Given the description of an element on the screen output the (x, y) to click on. 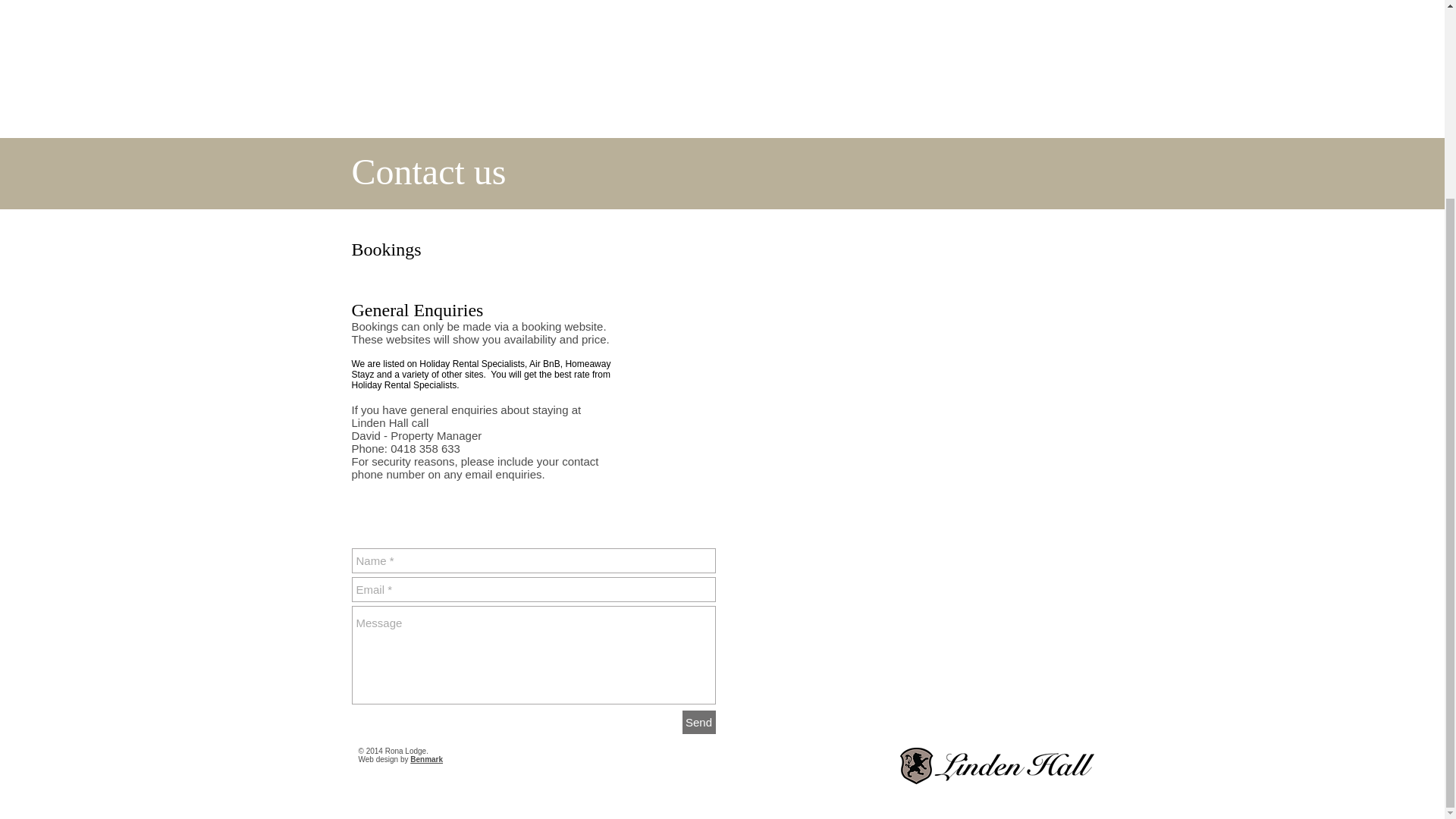
Send (699, 721)
Benmark (426, 759)
LindenHall-V2.png (996, 767)
